Given the description of an element on the screen output the (x, y) to click on. 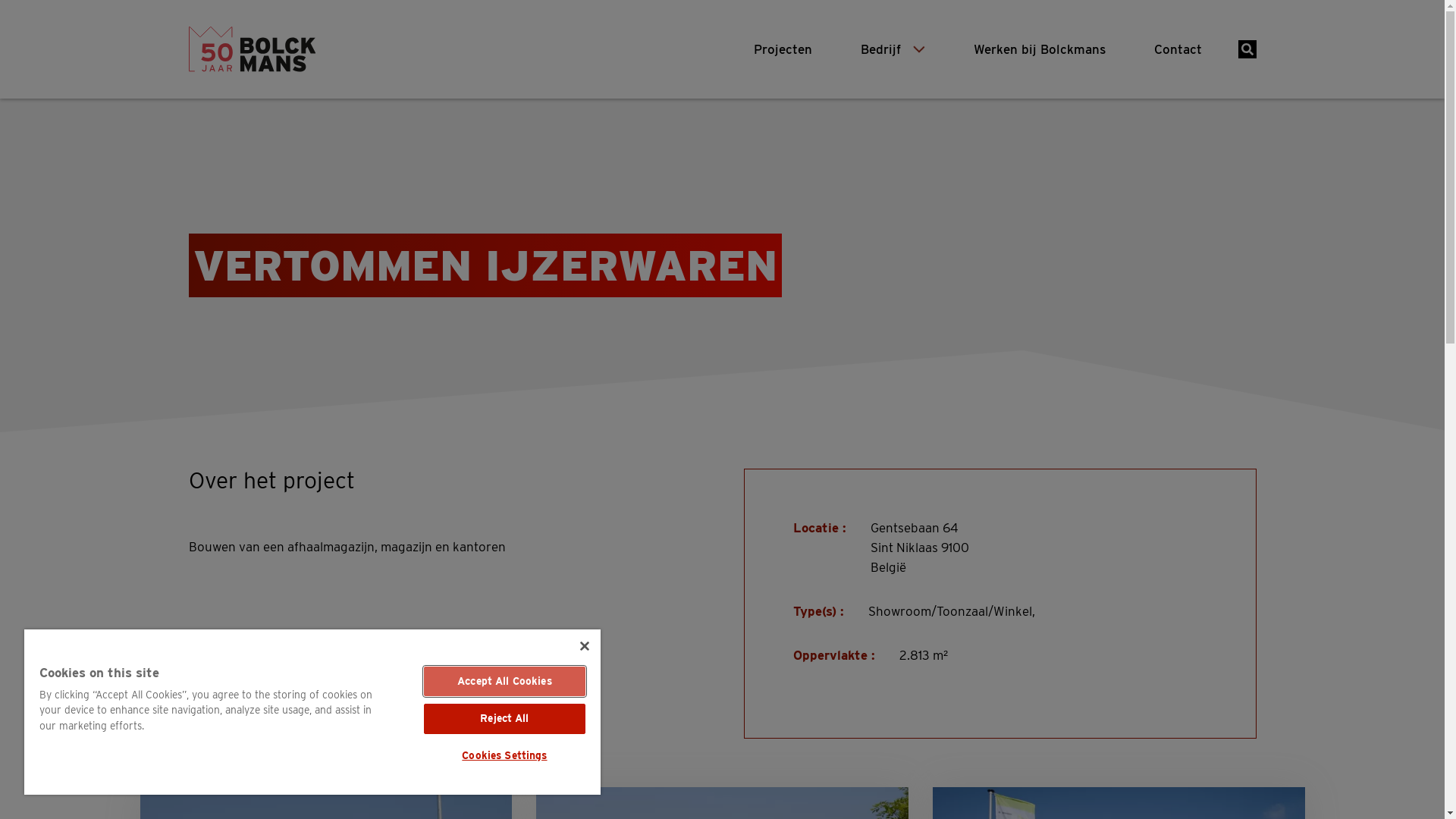
Accept All Cookies Element type: text (504, 681)
Cookies Settings Element type: text (504, 755)
Contact Element type: text (1177, 49)
Projecten Element type: text (782, 49)
Werken bij Bolckmans Element type: text (1039, 49)
Overslaan en naar de inhoud gaan Element type: text (0, 0)
Reject All Element type: text (504, 718)
